Given the description of an element on the screen output the (x, y) to click on. 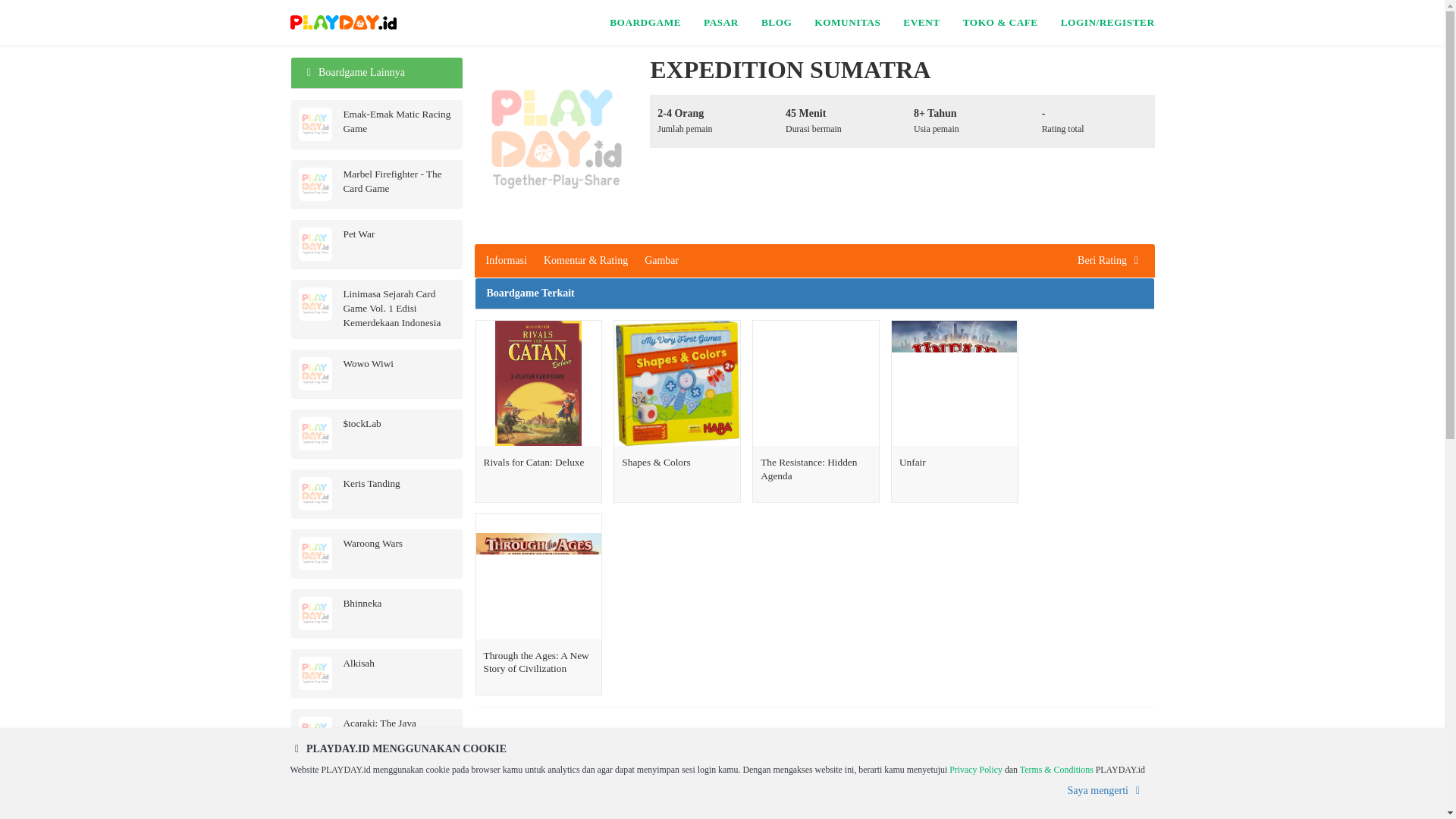
Gambar (661, 260)
Rivals for Catan: Deluxe (539, 498)
Through the Ages: A New Story of Civilization (539, 576)
EVENT (920, 22)
Unfair (954, 383)
PASAR (721, 22)
Informasi (505, 260)
Beri Rating (1110, 260)
BLOG (776, 22)
The Resistance: Hidden Agenda (815, 383)
